Given the description of an element on the screen output the (x, y) to click on. 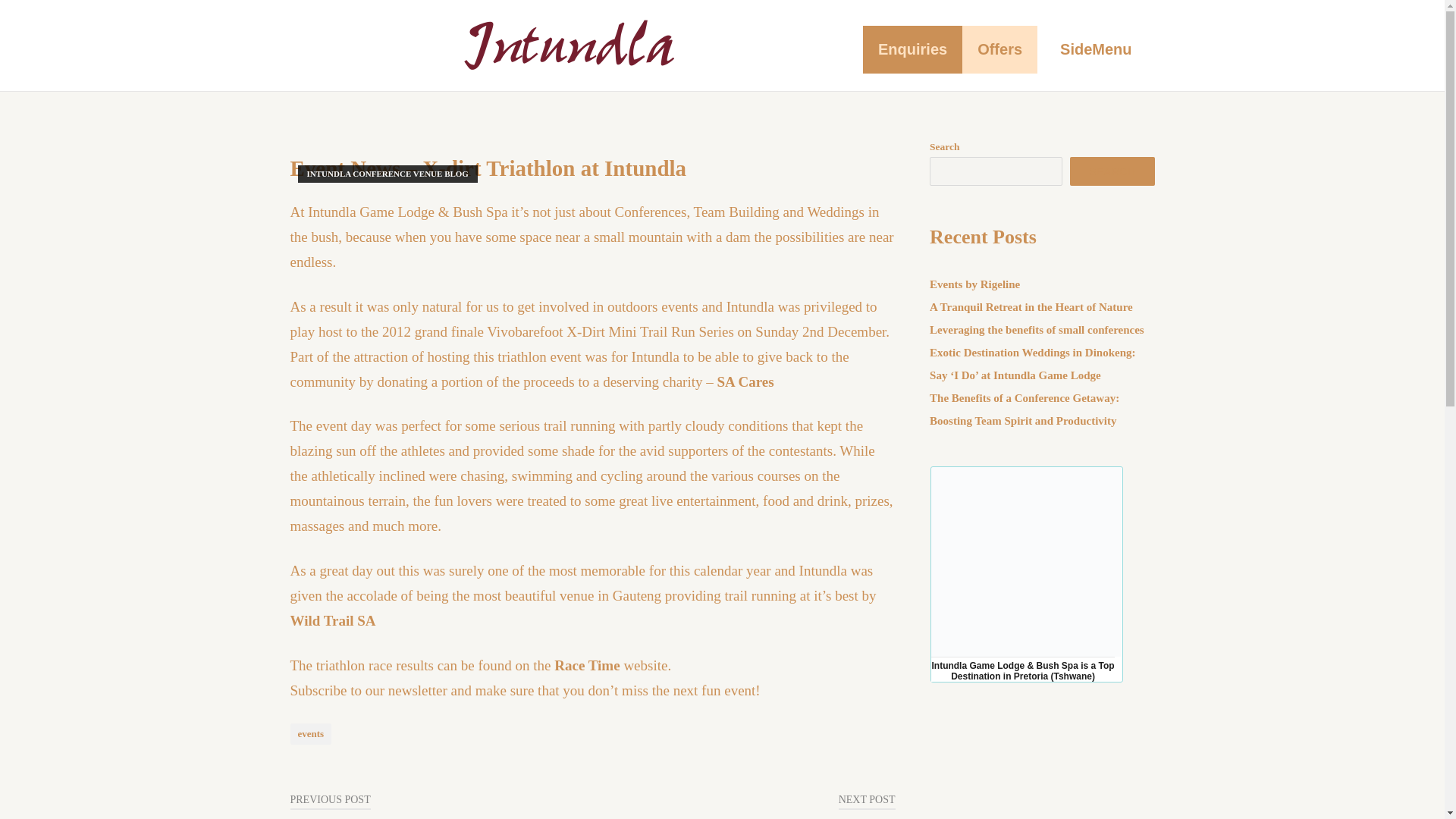
A Tranquil Retreat in the Heart of Nature (1031, 306)
INTUNDLA CONFERENCE VENUE BLOG (386, 173)
Open SideMenu (1095, 49)
Events by Rigeline (975, 284)
Offers (999, 49)
events (310, 733)
Wild Trail SA (332, 620)
Home (569, 43)
SA Cares (745, 381)
